Given the description of an element on the screen output the (x, y) to click on. 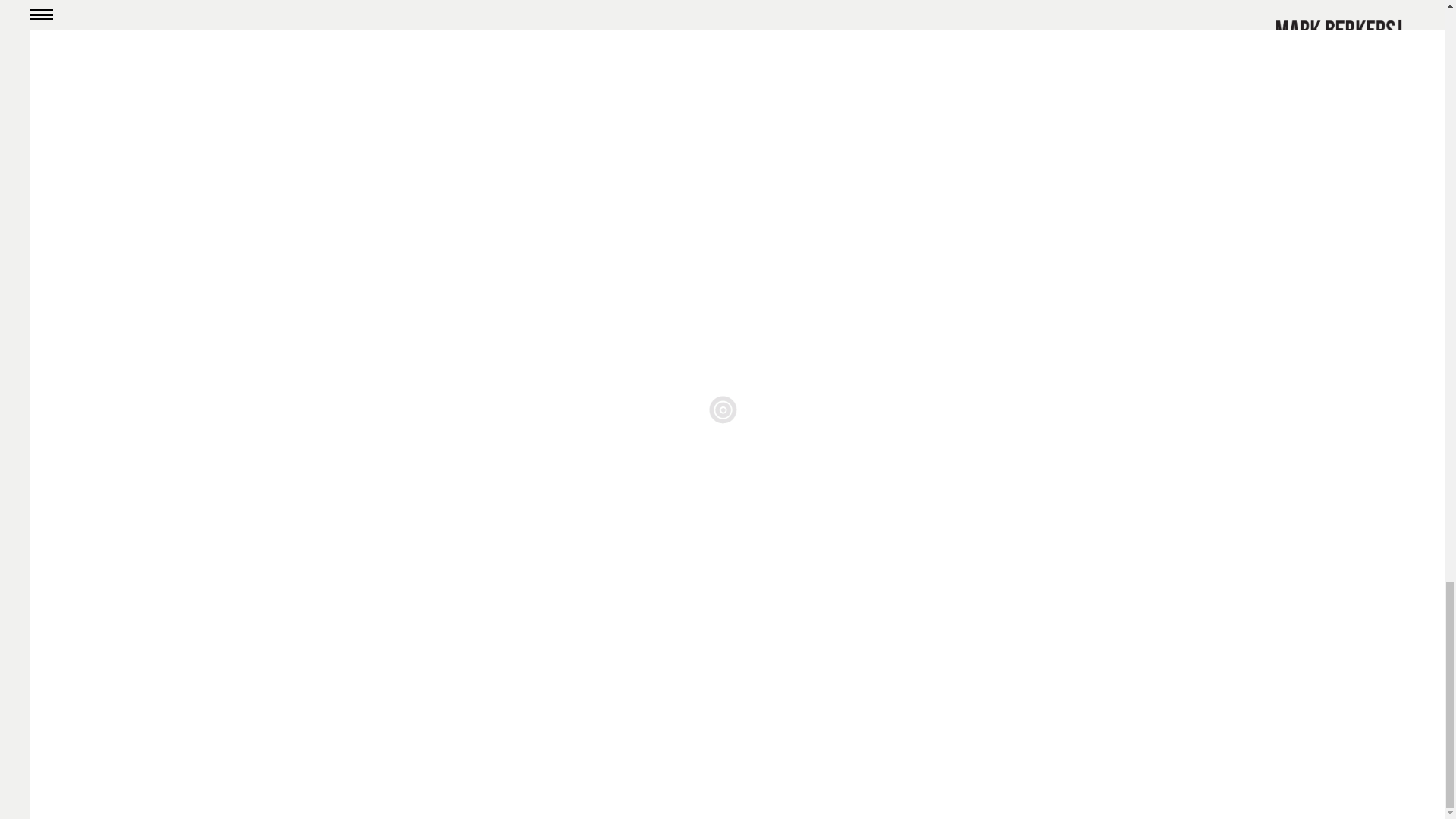
CONTACT (136, 627)
ABOUT (127, 605)
HOME (124, 649)
Prev (1013, 323)
Next (1123, 323)
